Given the description of an element on the screen output the (x, y) to click on. 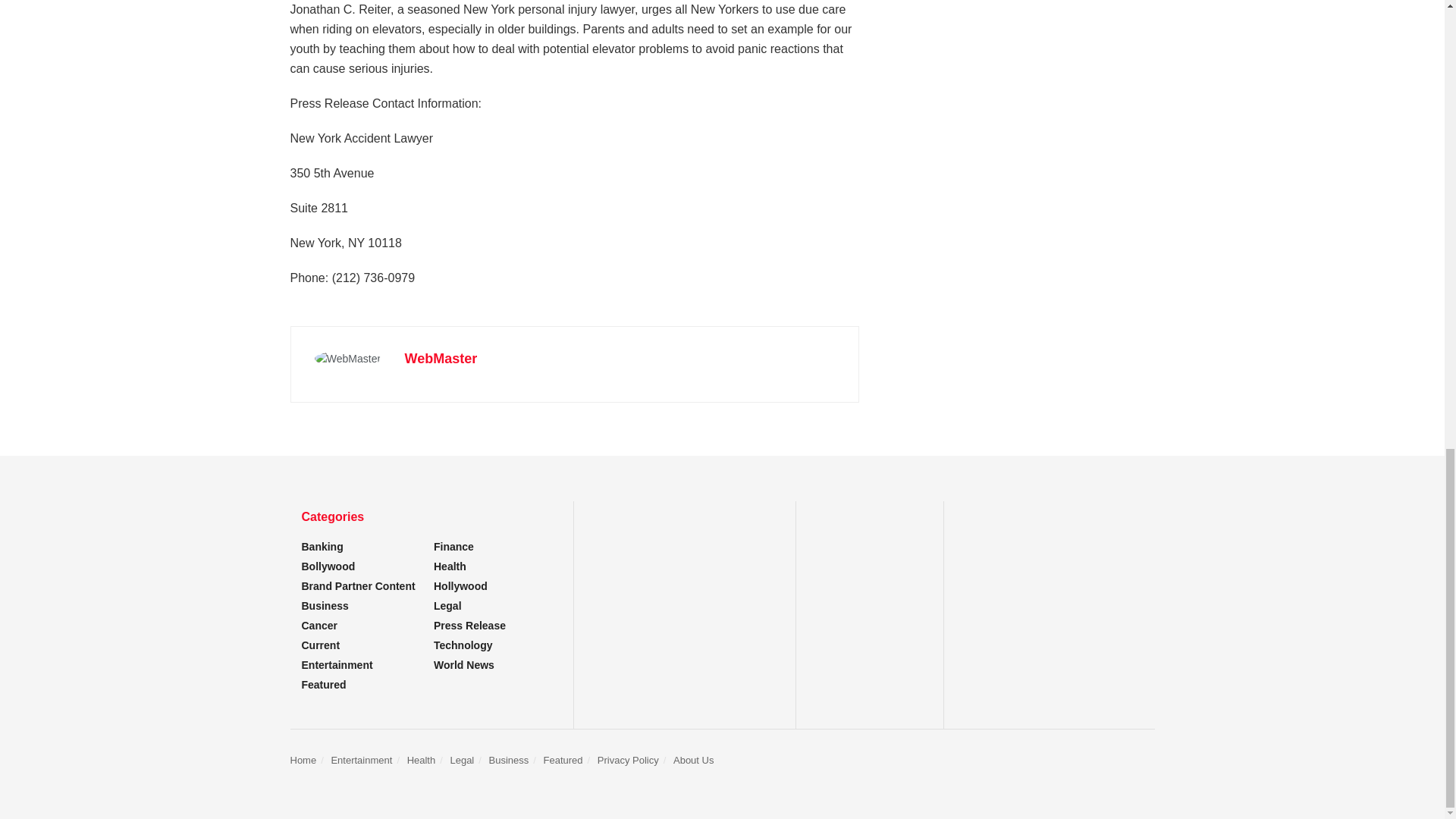
Banking (322, 546)
WebMaster (440, 358)
Bollywood (328, 566)
